Given the description of an element on the screen output the (x, y) to click on. 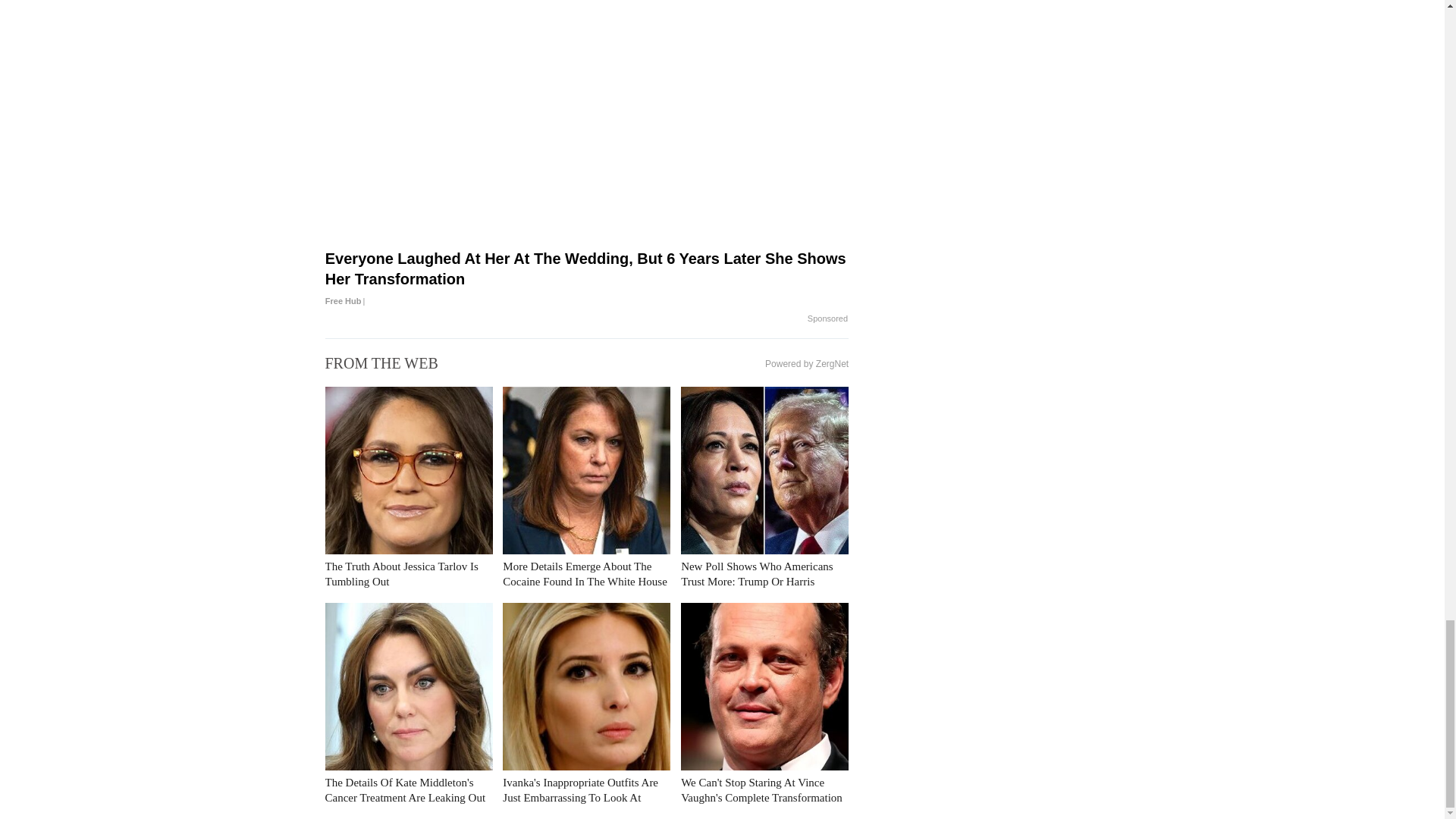
Sponsored (827, 318)
The Truth About Jessica Tarlov Is Tumbling Out (400, 574)
